Given the description of an element on the screen output the (x, y) to click on. 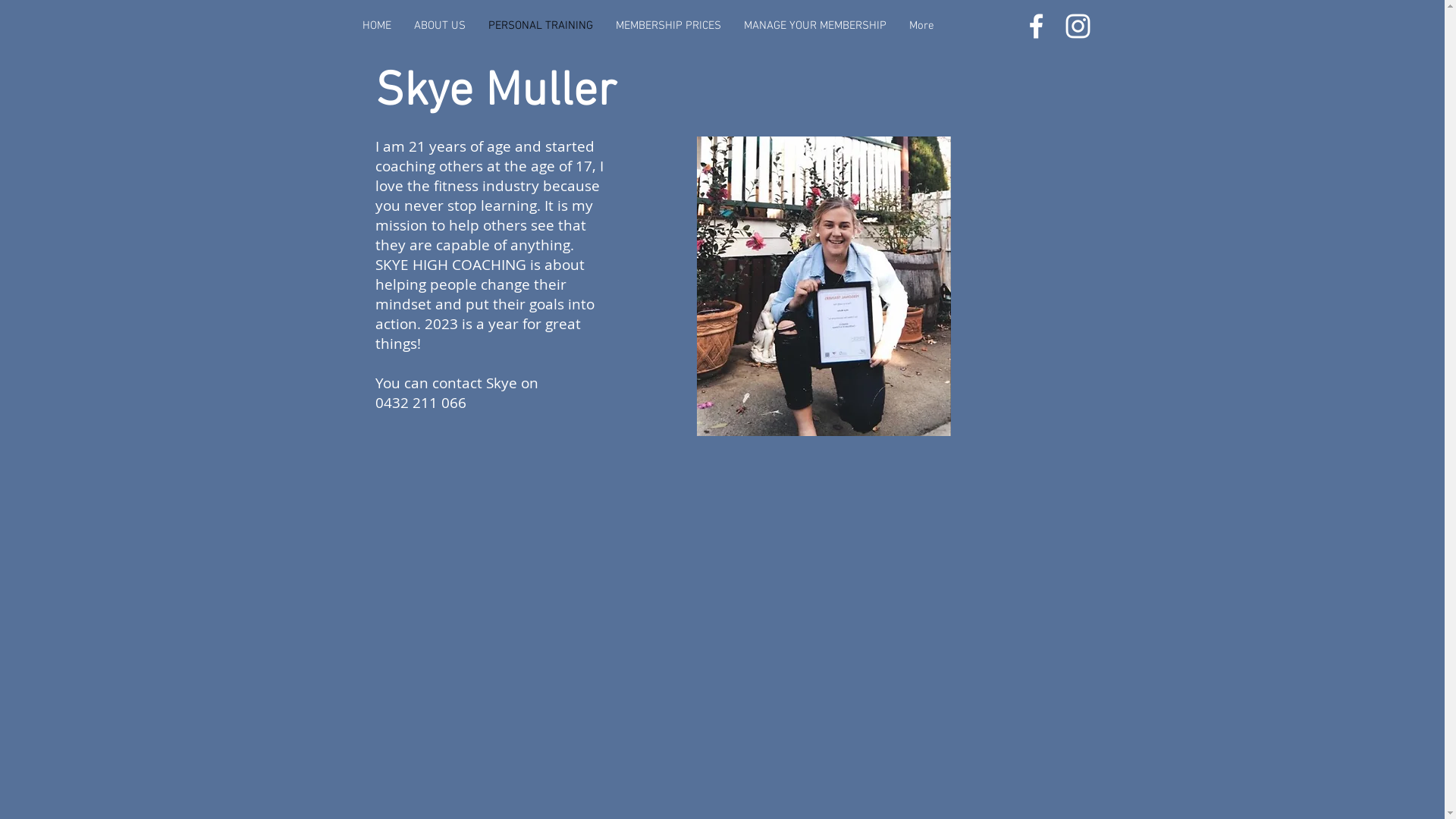
HOME Element type: text (375, 26)
PERSONAL TRAINING Element type: text (539, 26)
ABOUT US Element type: text (438, 26)
MEMBERSHIP PRICES Element type: text (667, 26)
MANAGE YOUR MEMBERSHIP Element type: text (814, 26)
